Given the description of an element on the screen output the (x, y) to click on. 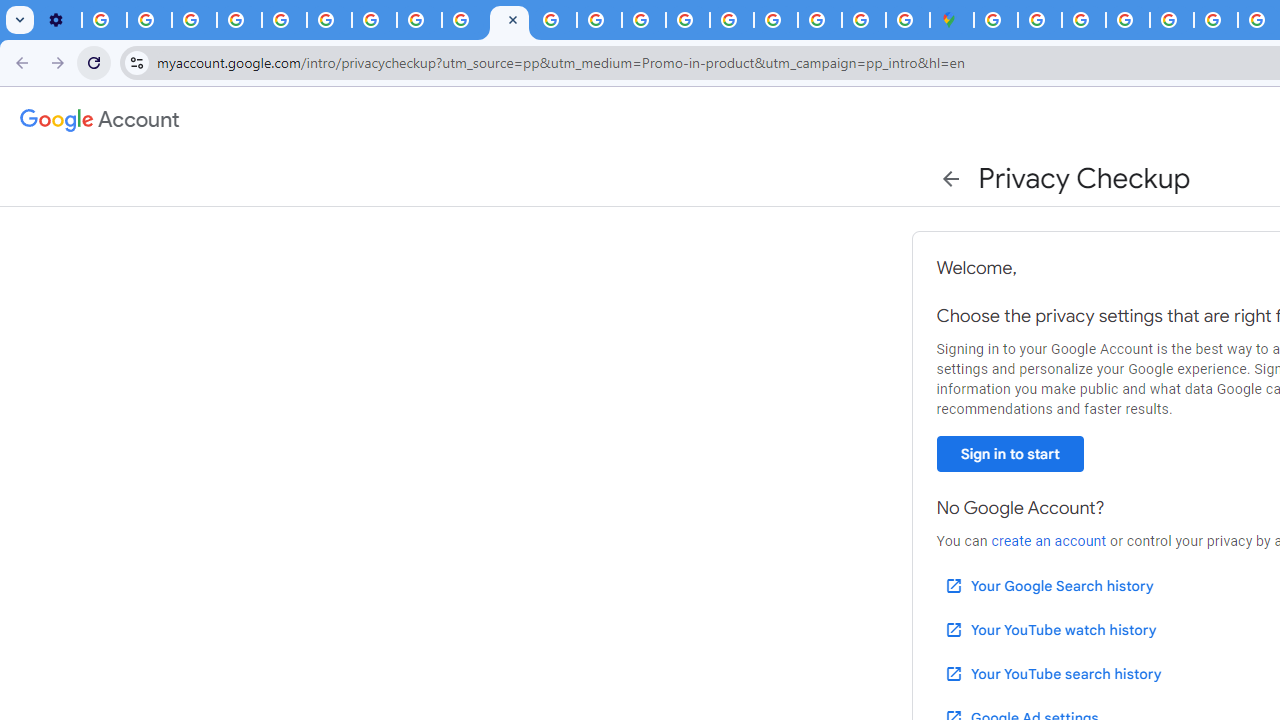
Terms and Conditions (1215, 20)
Delete photos & videos - Computer - Google Photos Help (103, 20)
Privacy Checkup (509, 20)
Terms and Conditions (1171, 20)
Privacy Help Center - Policies Help (284, 20)
